Given the description of an element on the screen output the (x, y) to click on. 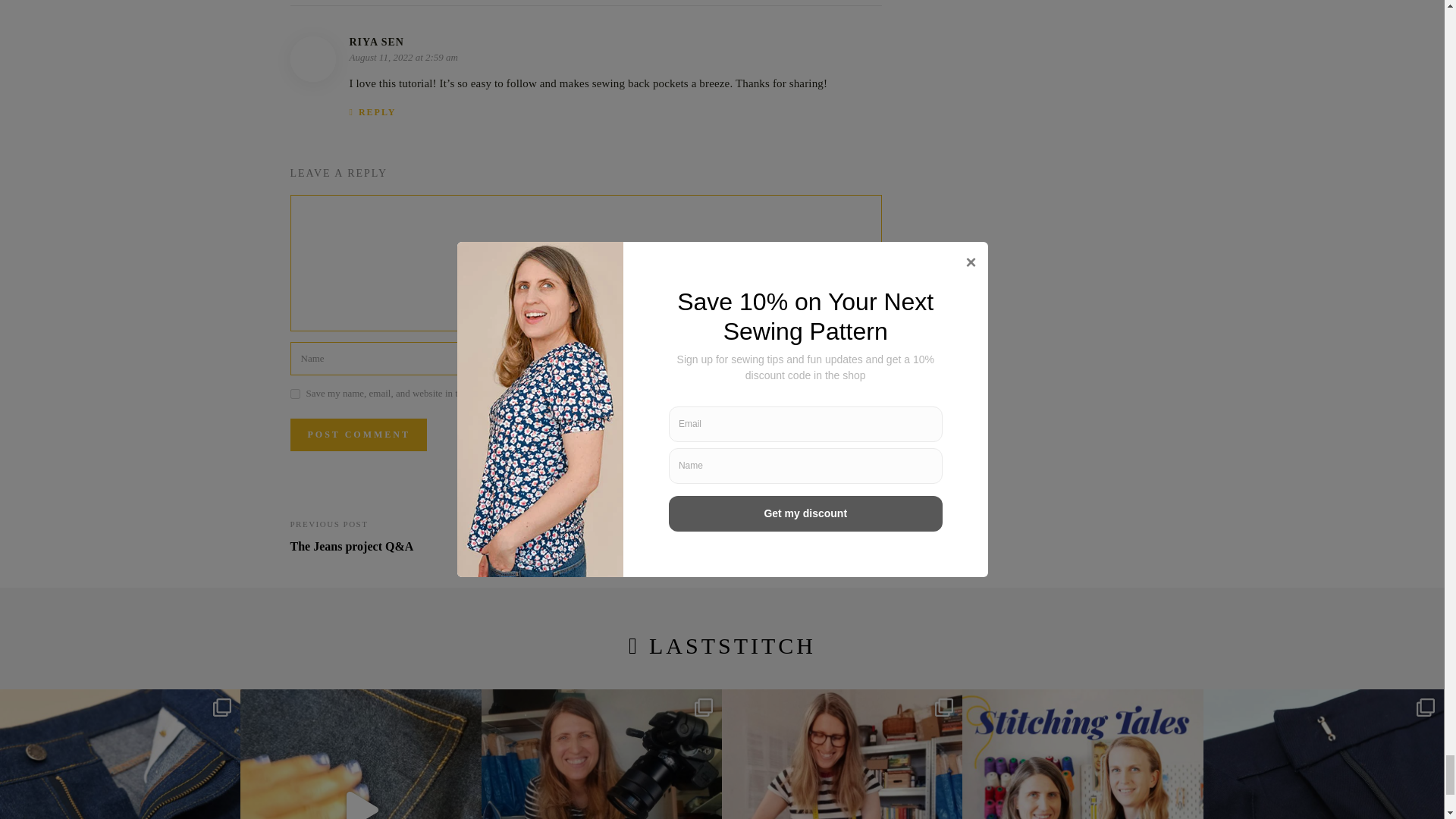
yes (294, 393)
Post Comment (357, 434)
